Given the description of an element on the screen output the (x, y) to click on. 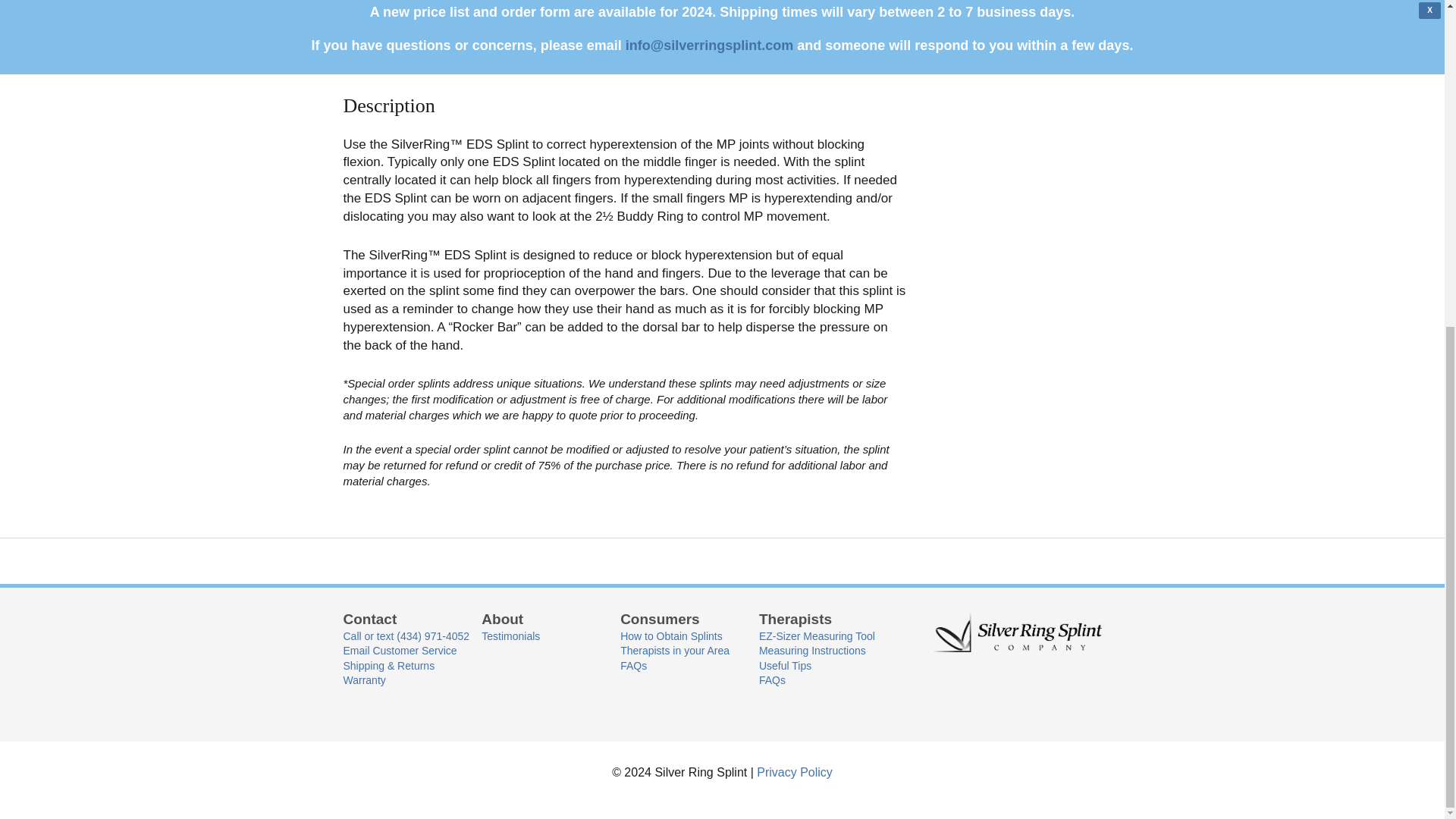
Visit Homepage (1015, 630)
